Given the description of an element on the screen output the (x, y) to click on. 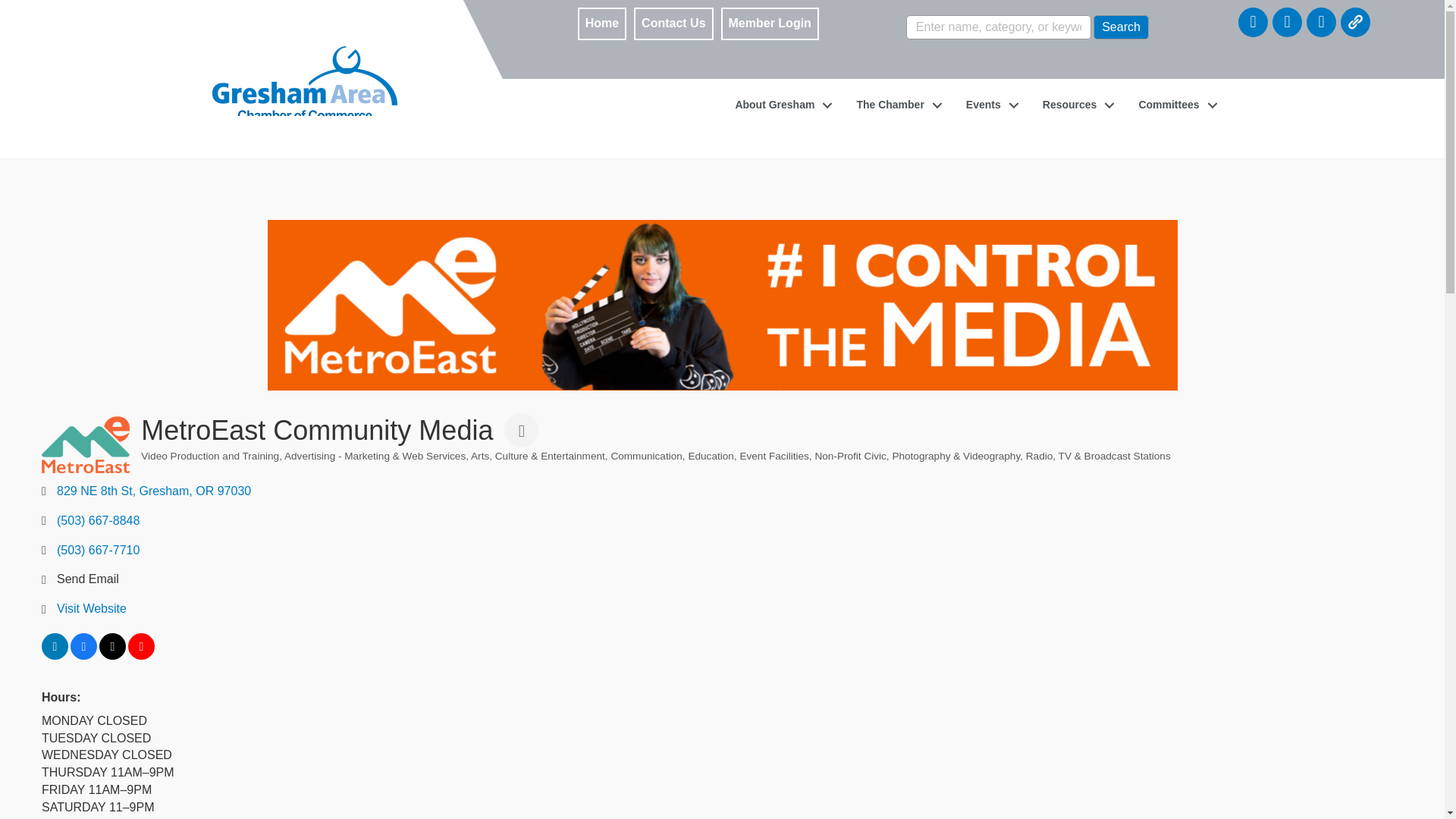
gresham-area-chamber-logo-sm (304, 92)
View on LinkedIn (55, 655)
Home (601, 23)
View on Twitter (112, 655)
link-to-home-page (280, 54)
Search (1120, 27)
View on YouTube (141, 655)
Member Login (769, 23)
MetroEast Community Media (85, 444)
Search (1120, 27)
Contact Us (673, 23)
View on Facebook (83, 655)
The Chamber (895, 105)
About Gresham (779, 105)
